Given the description of an element on the screen output the (x, y) to click on. 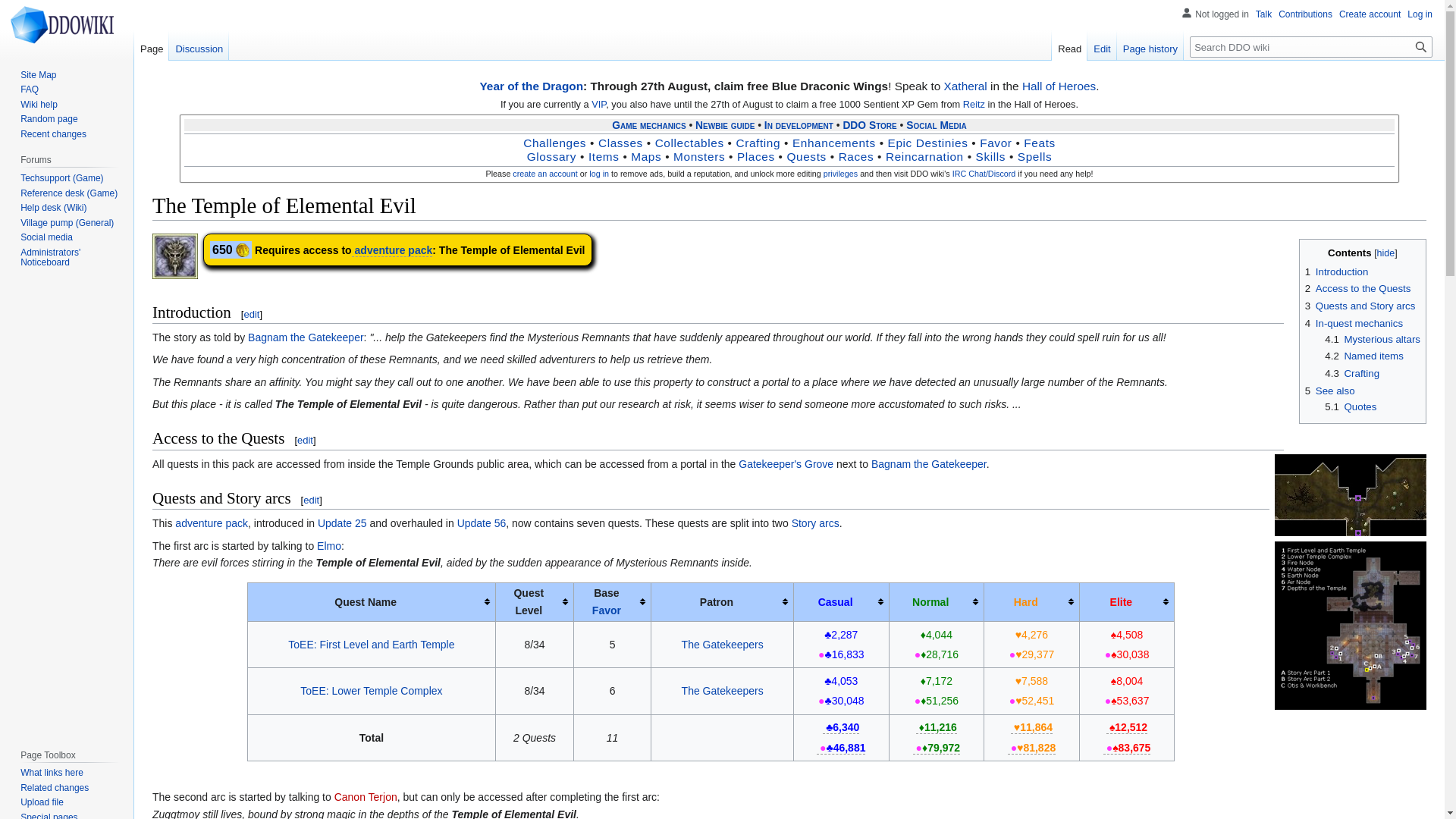
In development (798, 124)
Challenges (554, 142)
Search (1420, 46)
Spells (1034, 155)
Favor (995, 142)
Quests (807, 155)
adventure pack (393, 250)
Game mechanics (648, 124)
Year of the Dragon (531, 85)
Go (1420, 46)
